Given the description of an element on the screen output the (x, y) to click on. 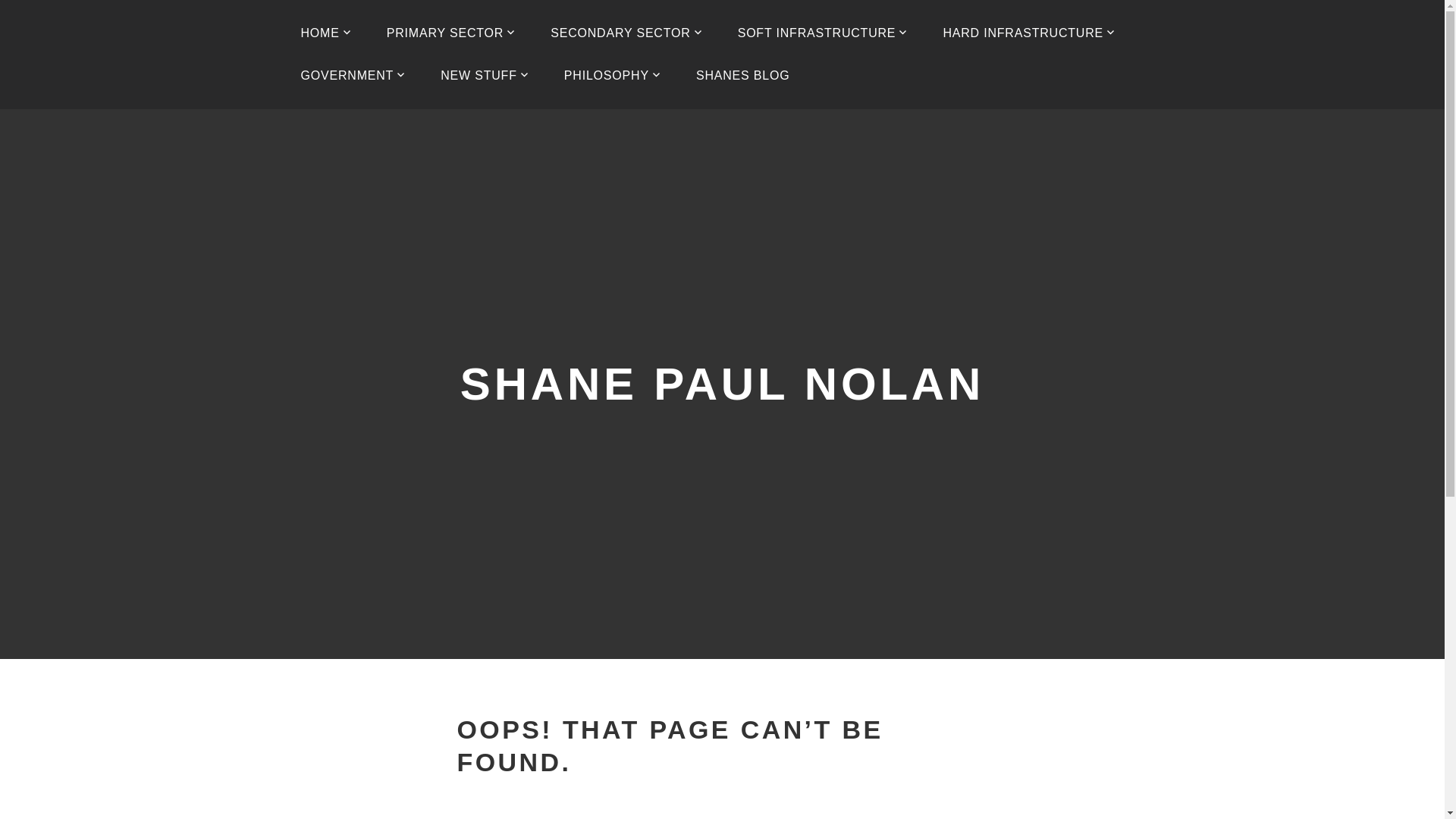
PRIMARY SECTOR (451, 33)
HOME (325, 33)
SECONDARY SECTOR (626, 33)
